Given the description of an element on the screen output the (x, y) to click on. 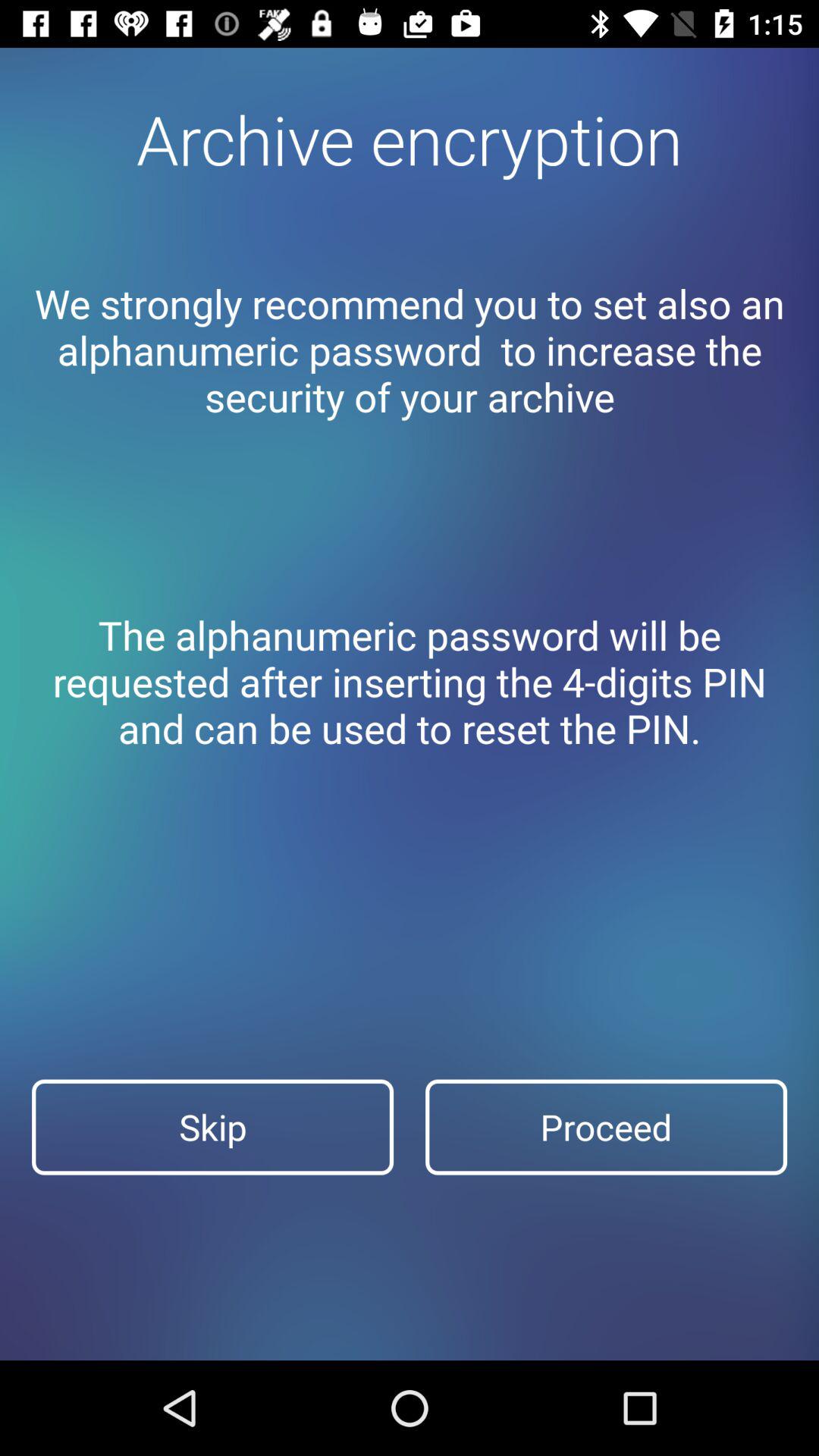
press the item below the the alphanumeric password item (606, 1127)
